Given the description of an element on the screen output the (x, y) to click on. 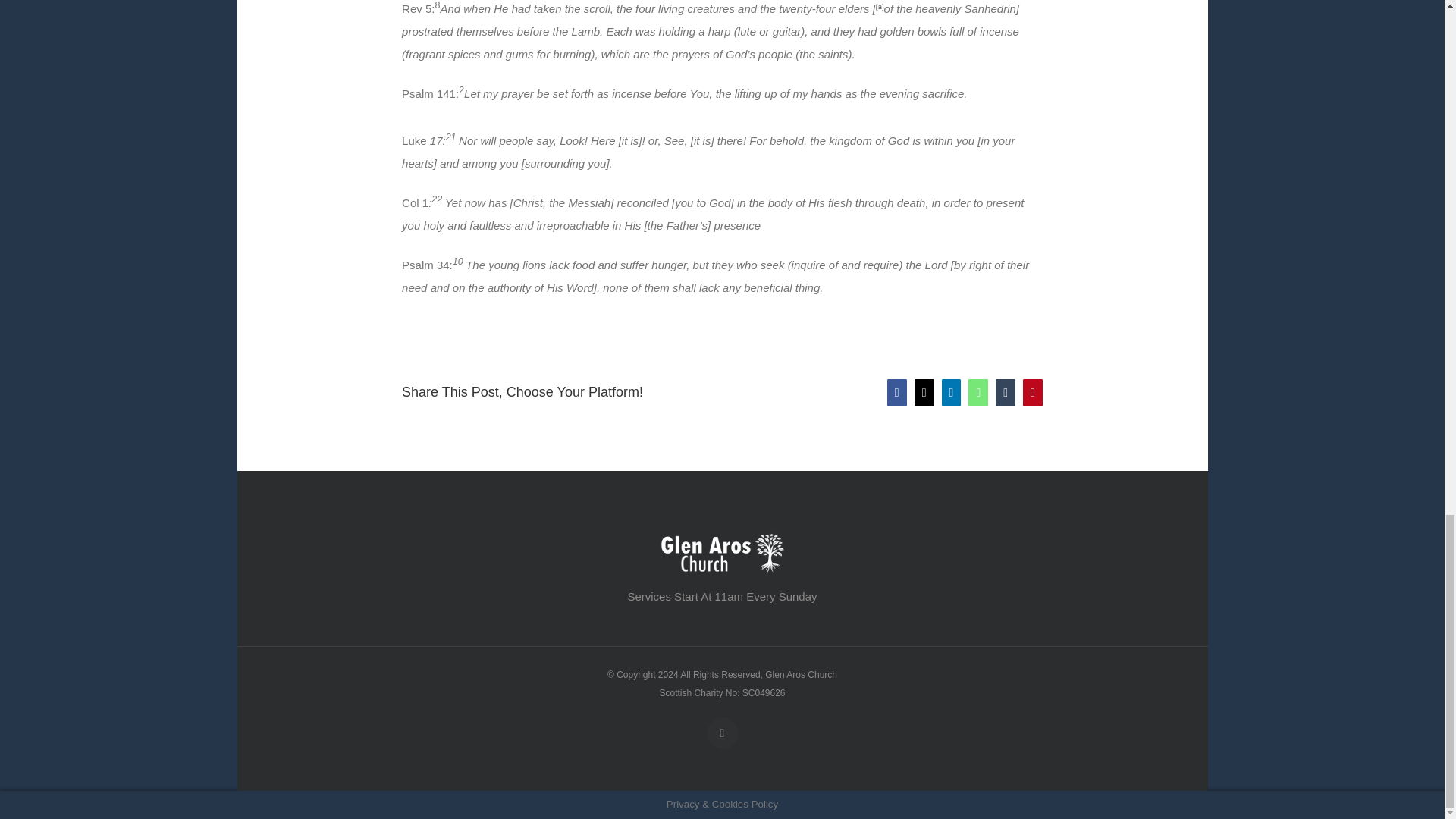
Facebook (722, 733)
Facebook (722, 733)
